Given the description of an element on the screen output the (x, y) to click on. 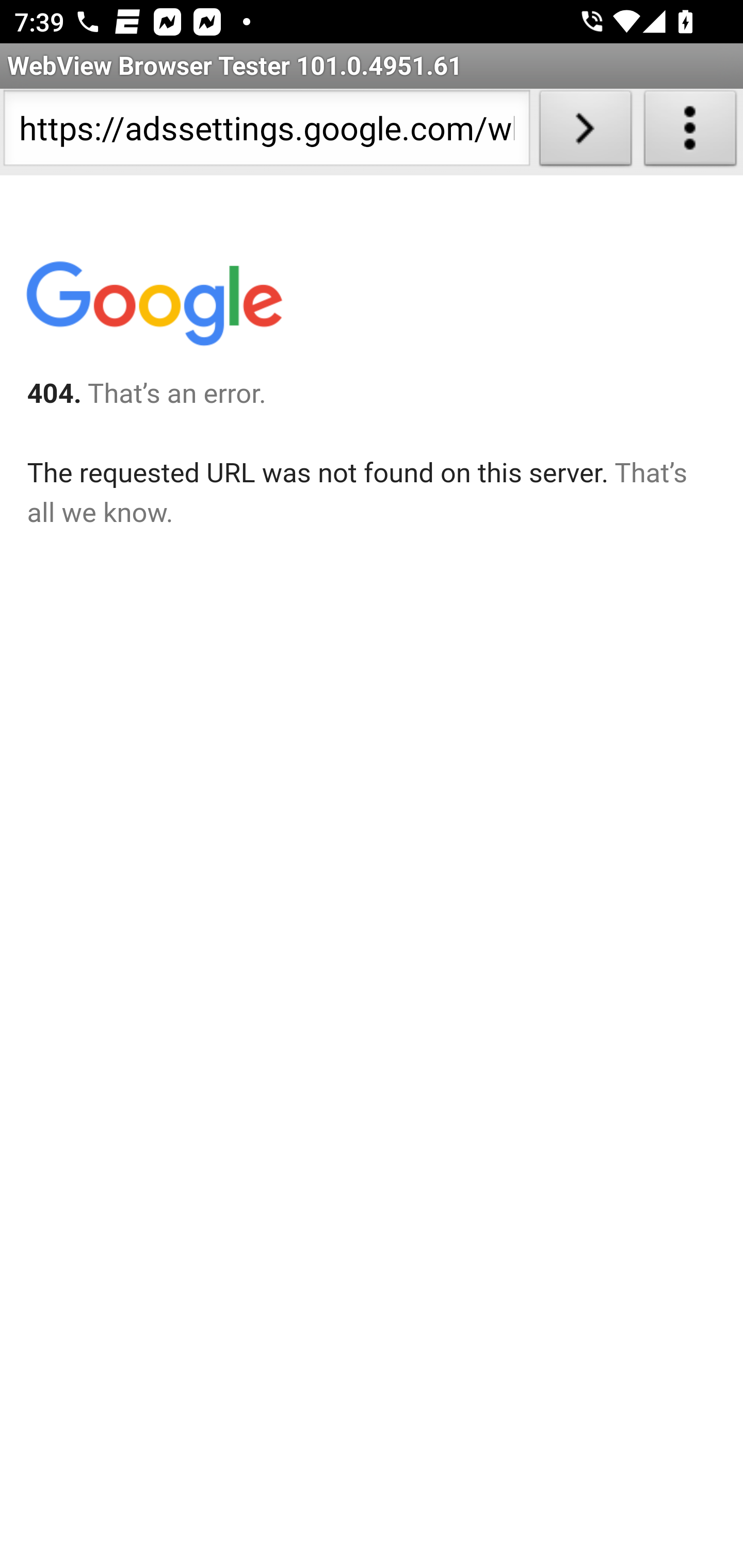
Load URL (585, 132)
About WebView (690, 132)
Google (153, 307)
